Given the description of an element on the screen output the (x, y) to click on. 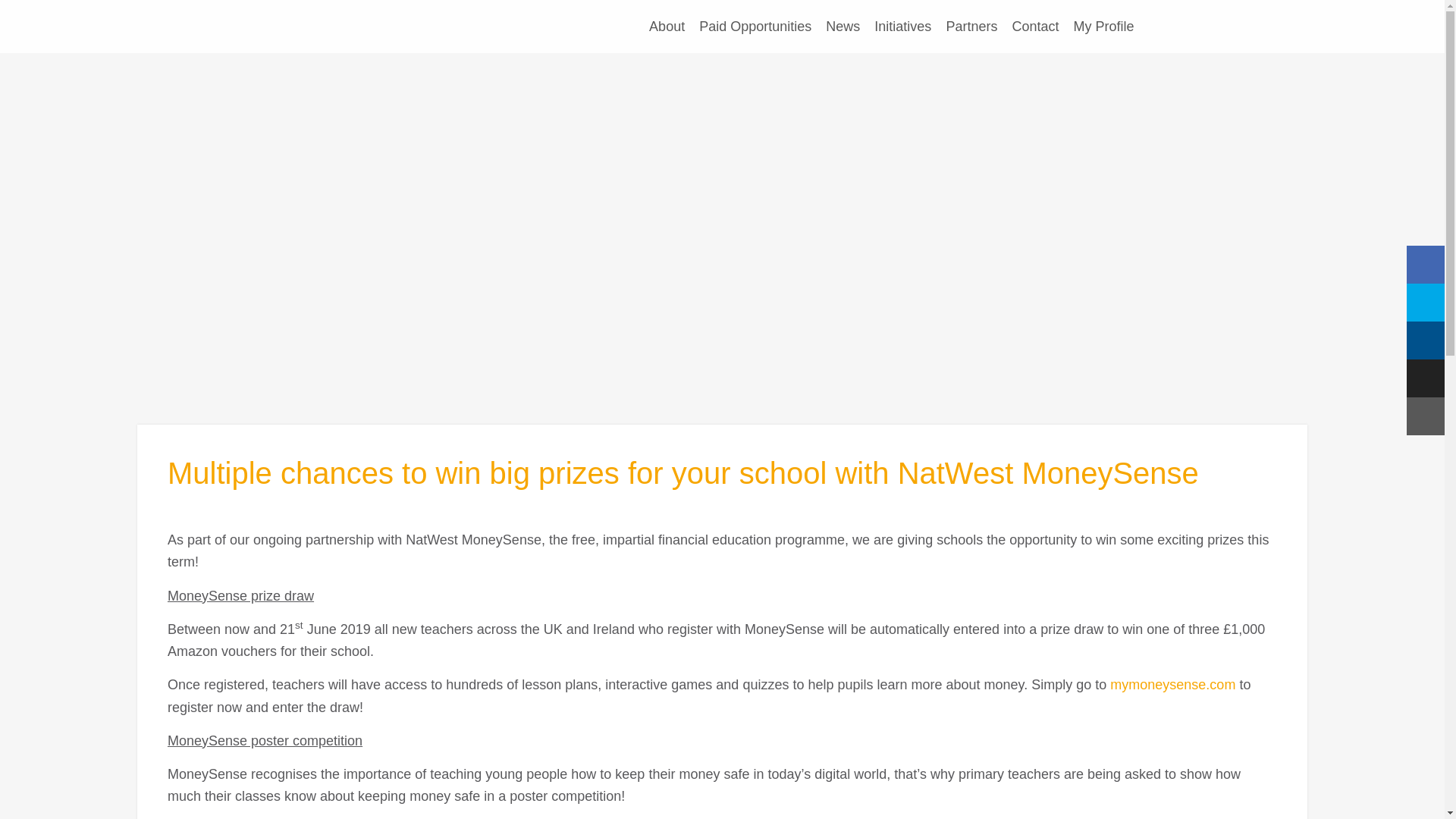
National Schools Partnership (368, 26)
mymoneysense.com (1171, 684)
My Profile (1103, 26)
National Schools Partnership (368, 26)
Paid Opportunities (754, 26)
Partners (970, 26)
Initiatives (903, 26)
